Given the description of an element on the screen output the (x, y) to click on. 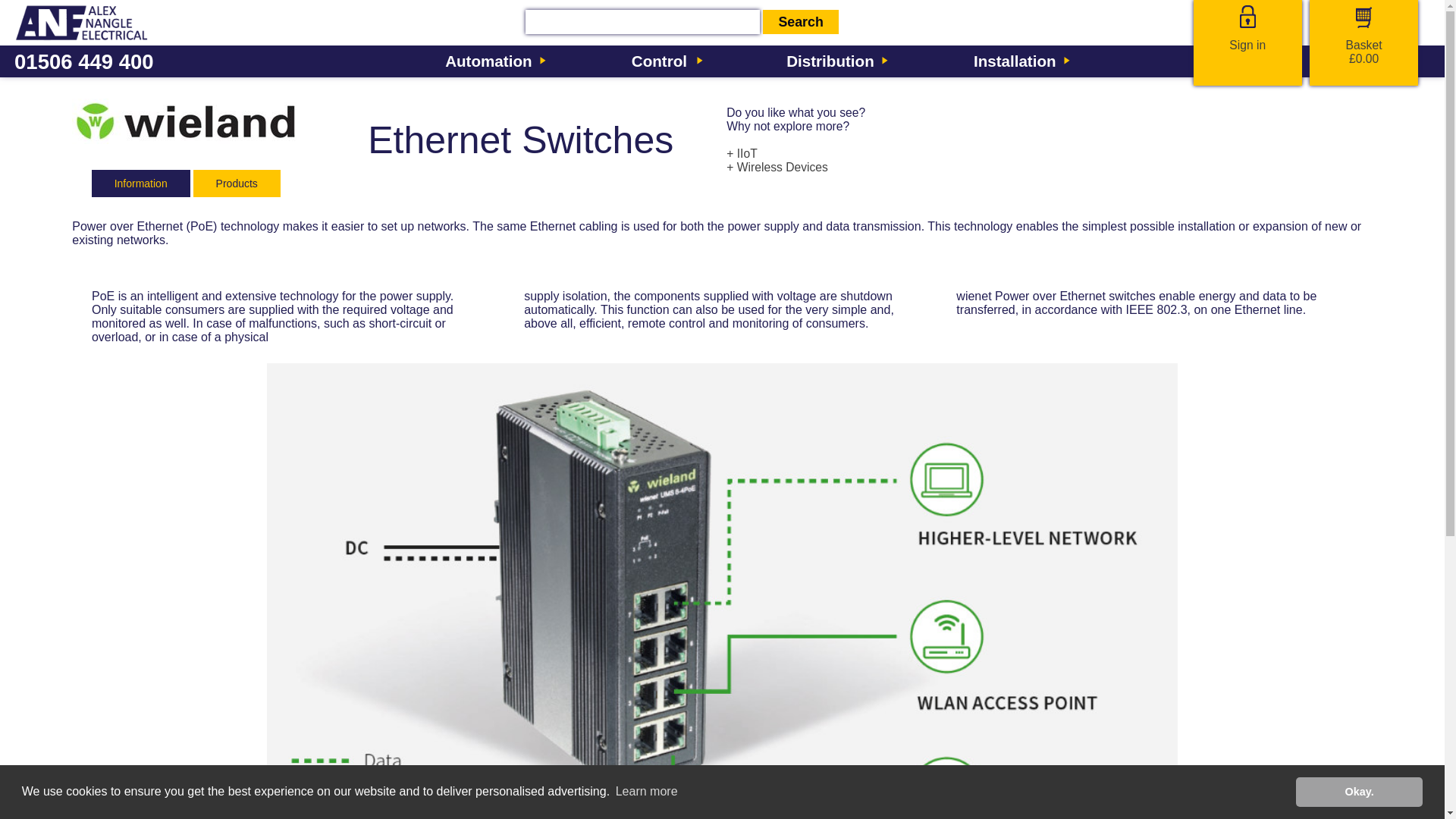
Search (800, 21)
Okay. (1358, 791)
Learn more (645, 791)
Control (665, 60)
Sign in (1246, 44)
Search (800, 21)
Search (800, 21)
Learn more (678, 791)
Automation (493, 60)
